Given the description of an element on the screen output the (x, y) to click on. 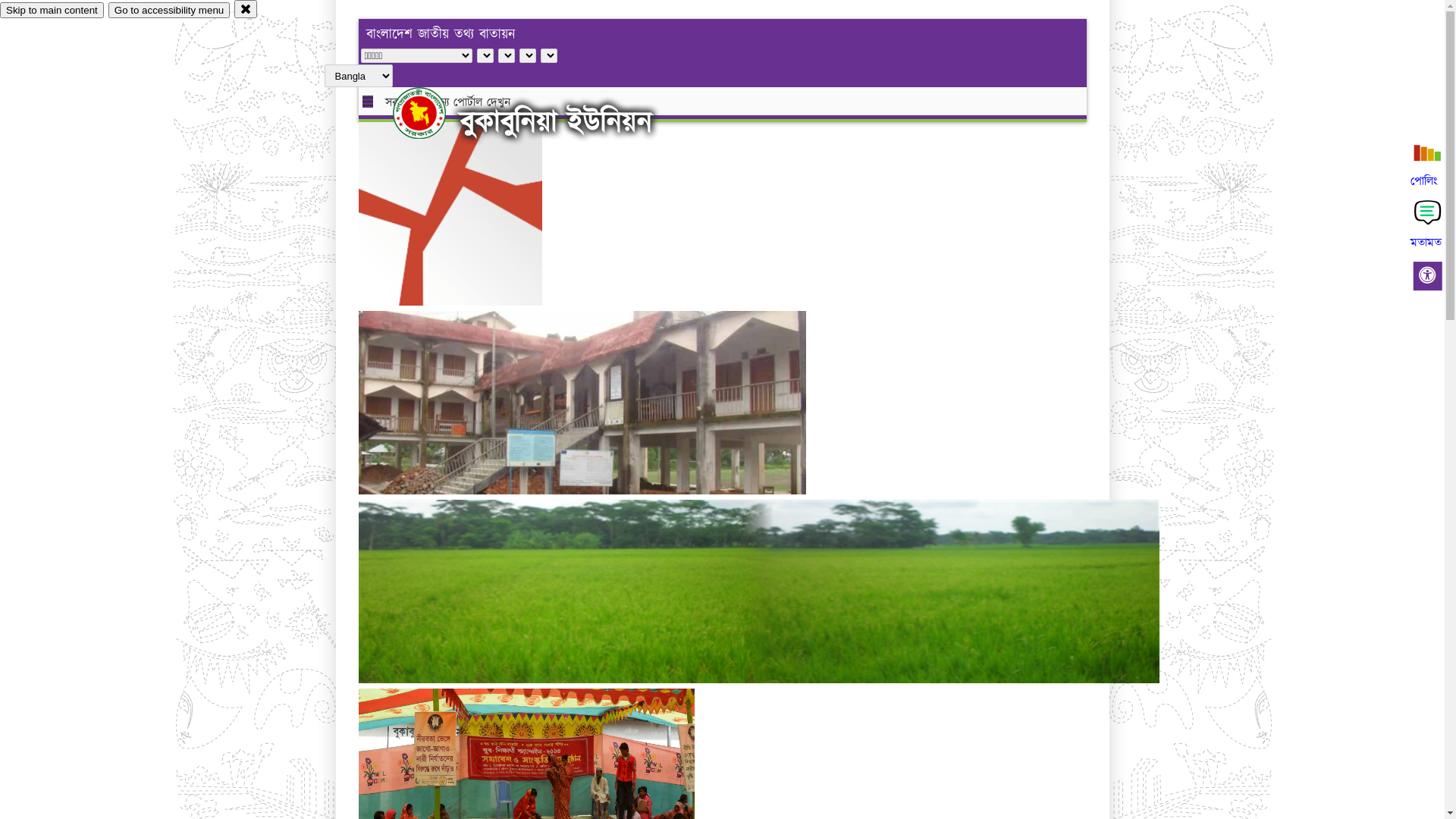
Go to accessibility menu Element type: text (168, 10)

                
             Element type: hover (431, 112)
close Element type: hover (245, 9)
Skip to main content Element type: text (51, 10)
